Given the description of an element on the screen output the (x, y) to click on. 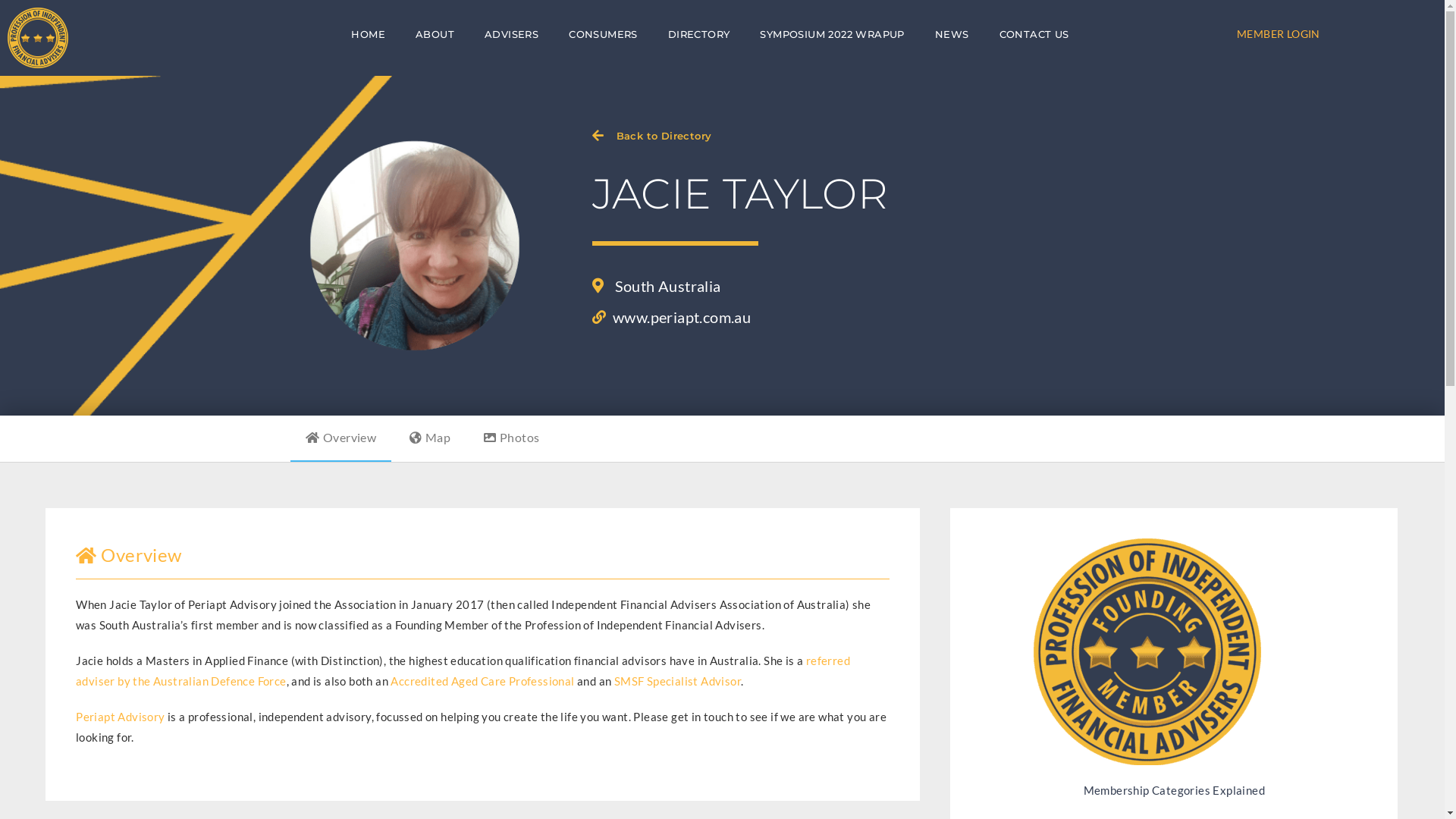
referred adviser by the Australian Defence Force Element type: text (462, 670)
ABOUT Element type: text (434, 34)
NEWS Element type: text (951, 34)
MEMBER LOGIN Element type: text (1278, 33)
Accredited Aged Care Professional Element type: text (482, 680)
Overview Element type: text (340, 438)
CONTACT US Element type: text (1034, 34)
CONSUMERS Element type: text (602, 34)
Overview Element type: text (128, 554)
Back to Directory Element type: text (663, 135)
Photos Element type: text (511, 437)
Membership Categories Explained Element type: text (1173, 790)
Map Element type: text (430, 437)
Periapt Advisory Element type: text (119, 716)
www.periapt.com.au Element type: text (670, 316)
SYMPOSIUM 2022 WRAPUP Element type: text (831, 34)
DIRECTORY Element type: text (698, 34)
ADVISERS Element type: text (511, 34)
SMSF Specialist Advisor Element type: text (677, 680)
HOME Element type: text (367, 34)
